Given the description of an element on the screen output the (x, y) to click on. 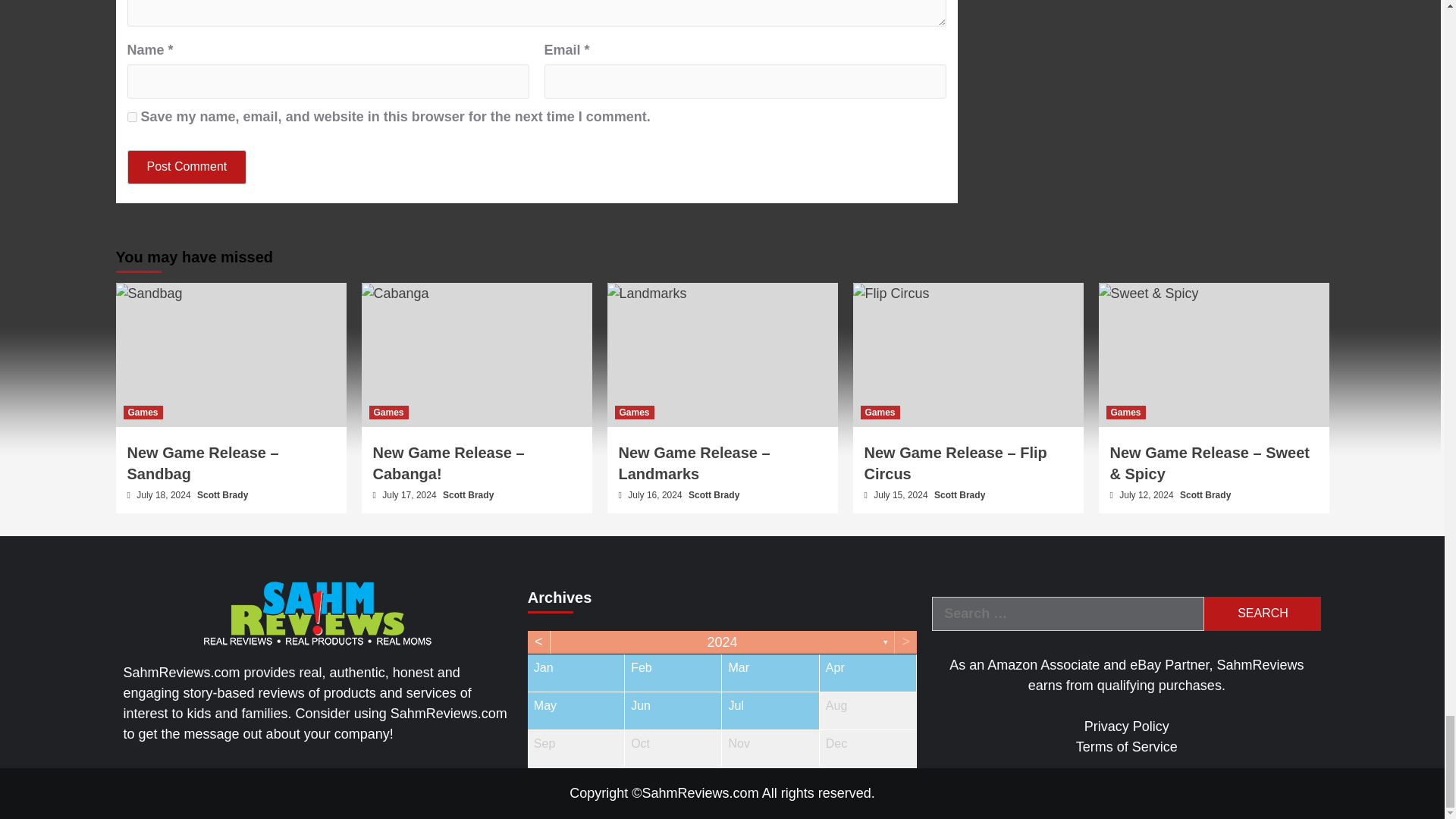
Search (1262, 613)
yes (132, 117)
January, 2024 (575, 672)
Post Comment (187, 166)
February, 2024 (672, 672)
March, 2024 (770, 672)
Search (1262, 613)
